Given the description of an element on the screen output the (x, y) to click on. 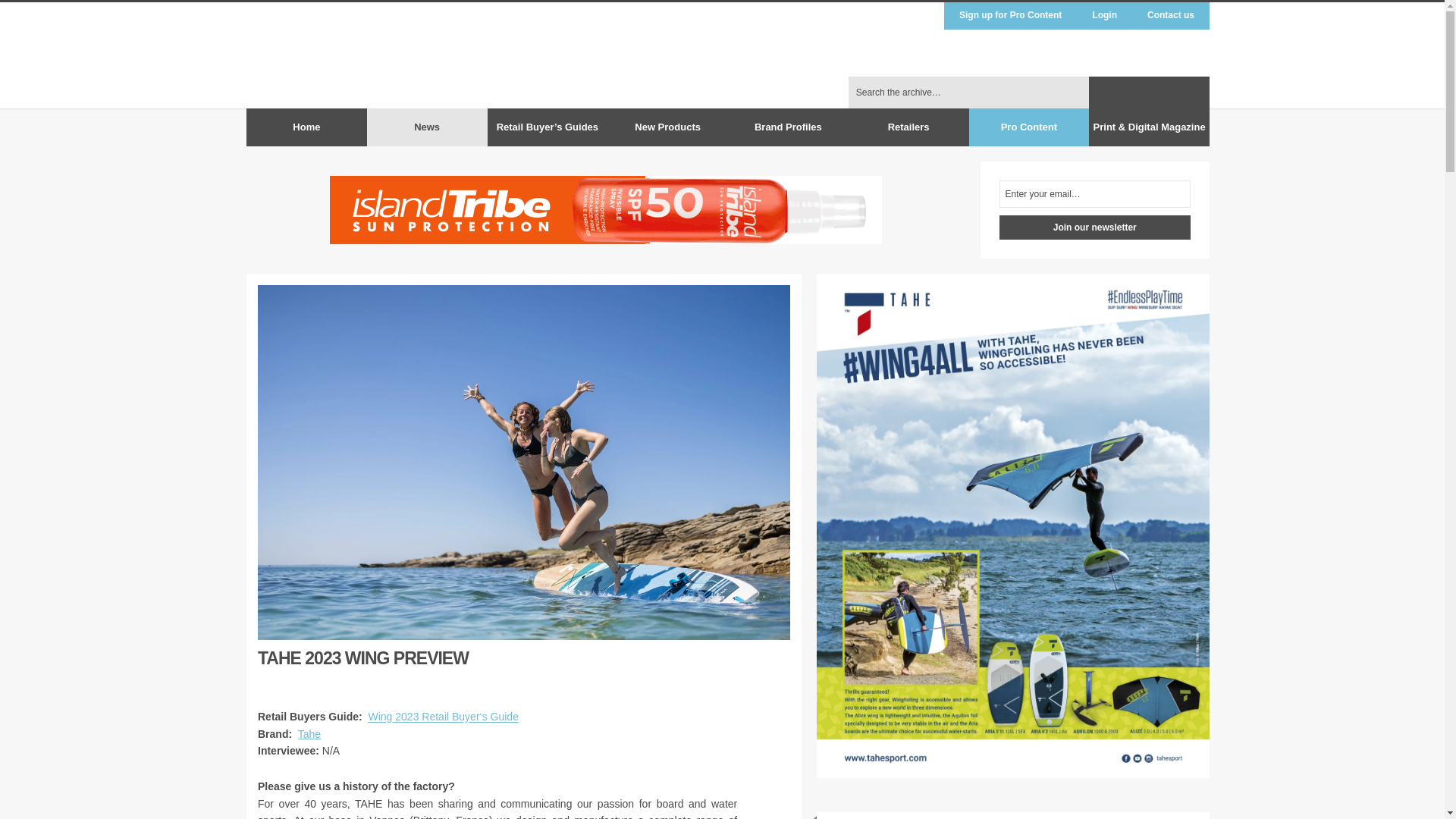
Home (306, 127)
Tahe (309, 734)
Follow us on Instagram (1164, 92)
Retailers (908, 127)
Enlarge the advert (844, 301)
Find us on Facebook (1104, 92)
News (426, 127)
Join our newsletter (1094, 227)
New Products (667, 127)
Connect with us on LinkedIn (1194, 92)
Boardsport SOURCE (1068, 92)
Contact us (1170, 15)
Tweet us on Twitter (1134, 92)
Find us on Facebook (1104, 92)
Boardsport SOURCE (1068, 92)
